Given the description of an element on the screen output the (x, y) to click on. 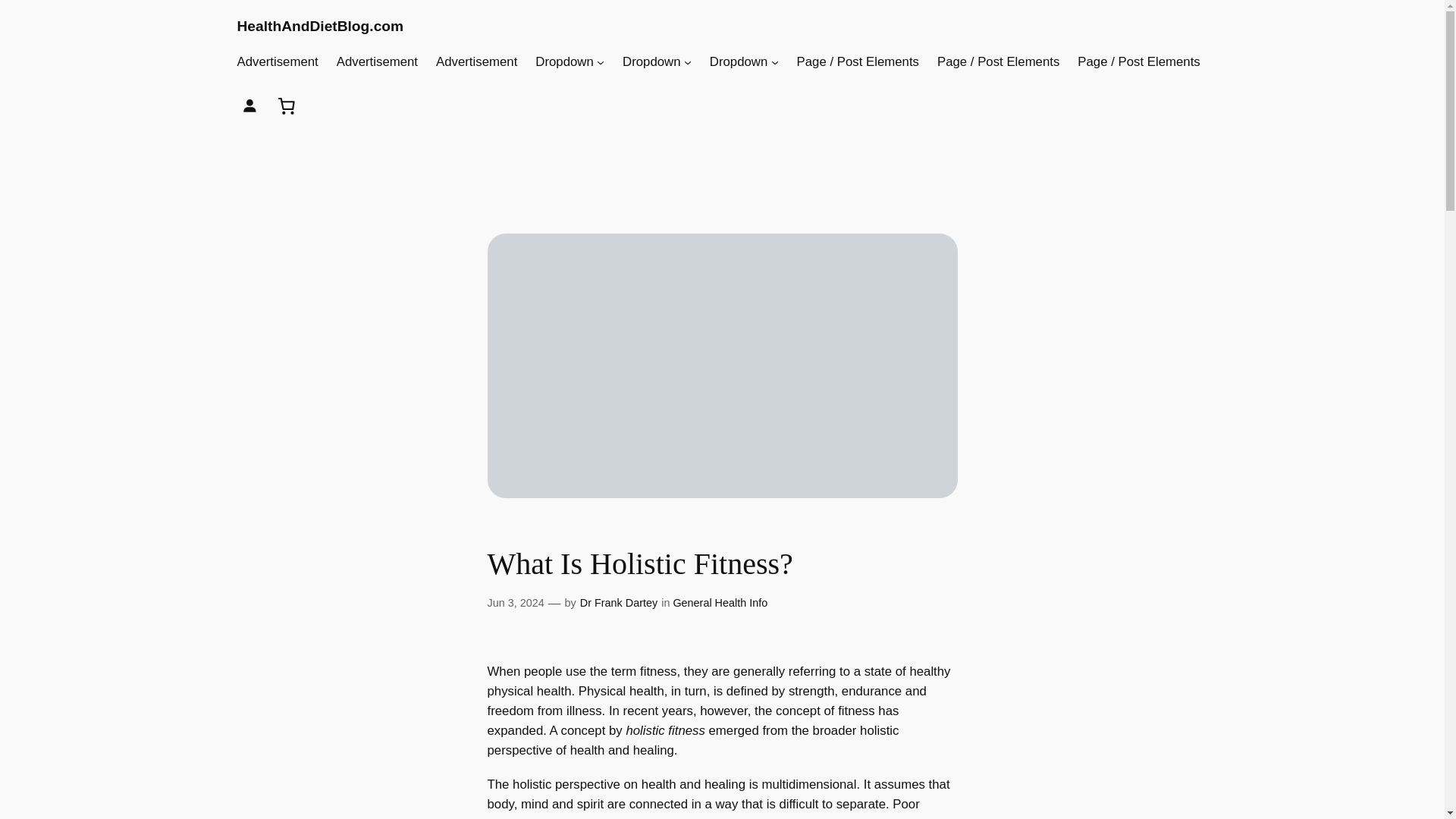
Jun 3, 2024 (514, 603)
Dropdown (564, 62)
Advertisement (276, 62)
Dropdown (739, 62)
Advertisement (376, 62)
Advertisement (475, 62)
HealthAndDietBlog.com (319, 26)
General Health Info (719, 603)
Dr Frank Dartey (618, 603)
Dropdown (652, 62)
